Given the description of an element on the screen output the (x, y) to click on. 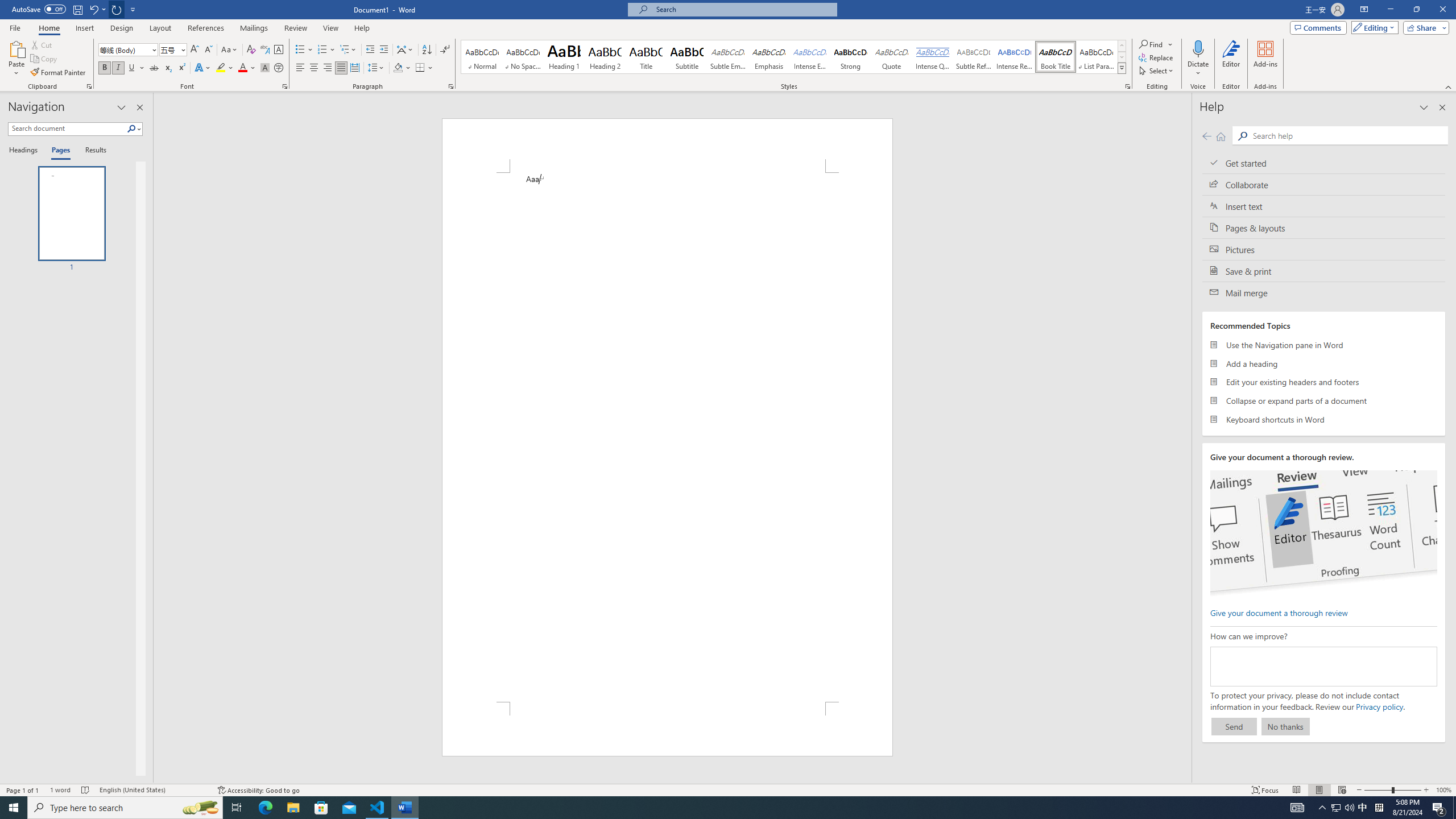
Dictate (1197, 58)
Styles (1121, 67)
Title (646, 56)
Sort... (426, 49)
Page 1 content (667, 436)
Font Color (246, 67)
Cut (42, 44)
Subtitle (686, 56)
Comments (1318, 27)
Strikethrough (154, 67)
Bold (104, 67)
Ribbon Display Options (1364, 9)
Mail merge (1323, 292)
Class: NetUIImage (1121, 68)
